Given the description of an element on the screen output the (x, y) to click on. 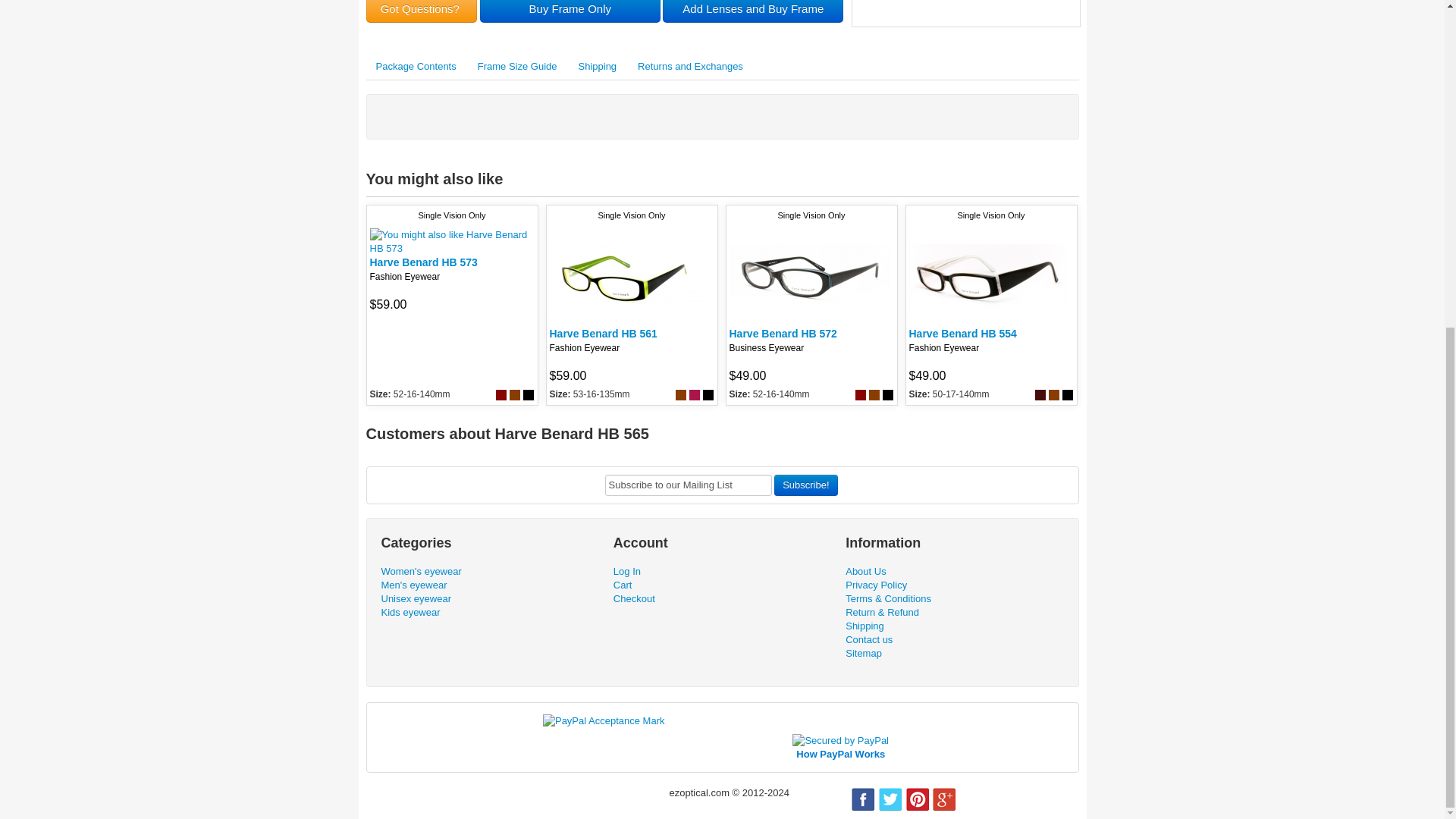
Log In (626, 571)
Add Lenses and Buy Frame (752, 11)
Package Contents (415, 66)
 Got Questions?   (421, 11)
Frame Size Guide (517, 66)
Buy Frame Only (570, 11)
 You might also like Harve Benard HB 554 (988, 277)
Women's eyewear (420, 571)
Unisex (415, 598)
Harve Benard HB 573 (423, 262)
 You might also like Harve Benard HB 572 (809, 277)
Kids (409, 612)
Harve Benard HB 561 (602, 333)
Cart (621, 584)
Harve Benard HB 572 (783, 333)
